Given the description of an element on the screen output the (x, y) to click on. 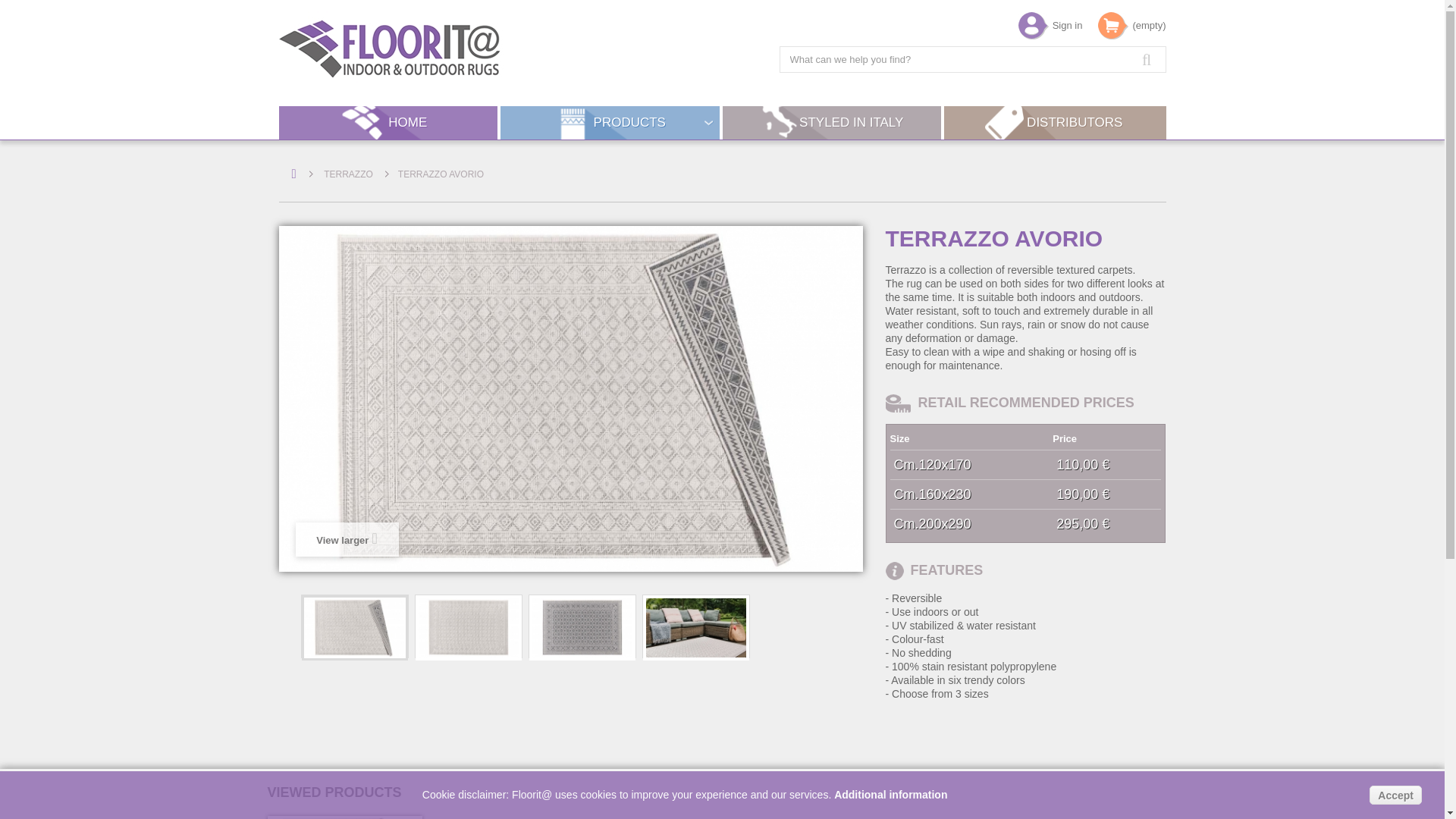
DISTRIBUTORS (1054, 122)
Distributors (1054, 122)
Return to Home (293, 174)
STYLED IN ITALY (831, 122)
Floorita SRL (472, 48)
Styled in italy (831, 122)
Products (609, 122)
Additional information (890, 794)
PRODUCTS (609, 122)
View my shopping cart (1149, 21)
